Given the description of an element on the screen output the (x, y) to click on. 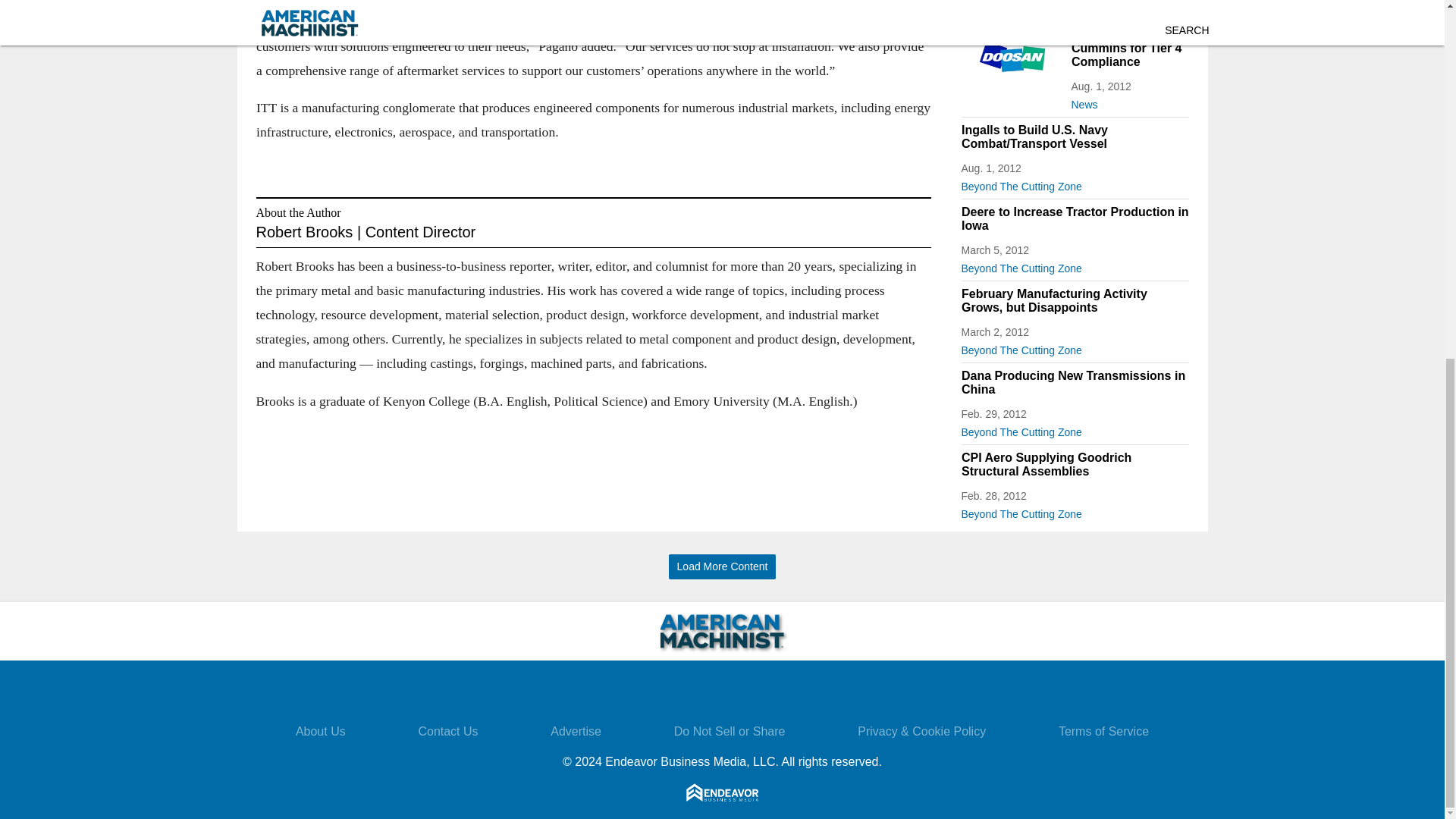
Beyond The Cutting Zone (1074, 265)
Beyond The Cutting Zone (1074, 429)
News (1129, 101)
Beyond The Cutting Zone (1074, 347)
Terms of Service (1103, 730)
Image (1012, 56)
Advertise (575, 730)
About Us (320, 730)
Load More Content (722, 566)
Contact Us (447, 730)
Deere to Increase Tractor Production in Iowa (1074, 218)
CPI Aero Supplying Goodrich Structural Assemblies (1074, 464)
Beyond The Cutting Zone (1074, 511)
Doosan Selects Cummins for Tier 4 Compliance (1129, 47)
Dana Producing New Transmissions in China (1074, 382)
